Given the description of an element on the screen output the (x, y) to click on. 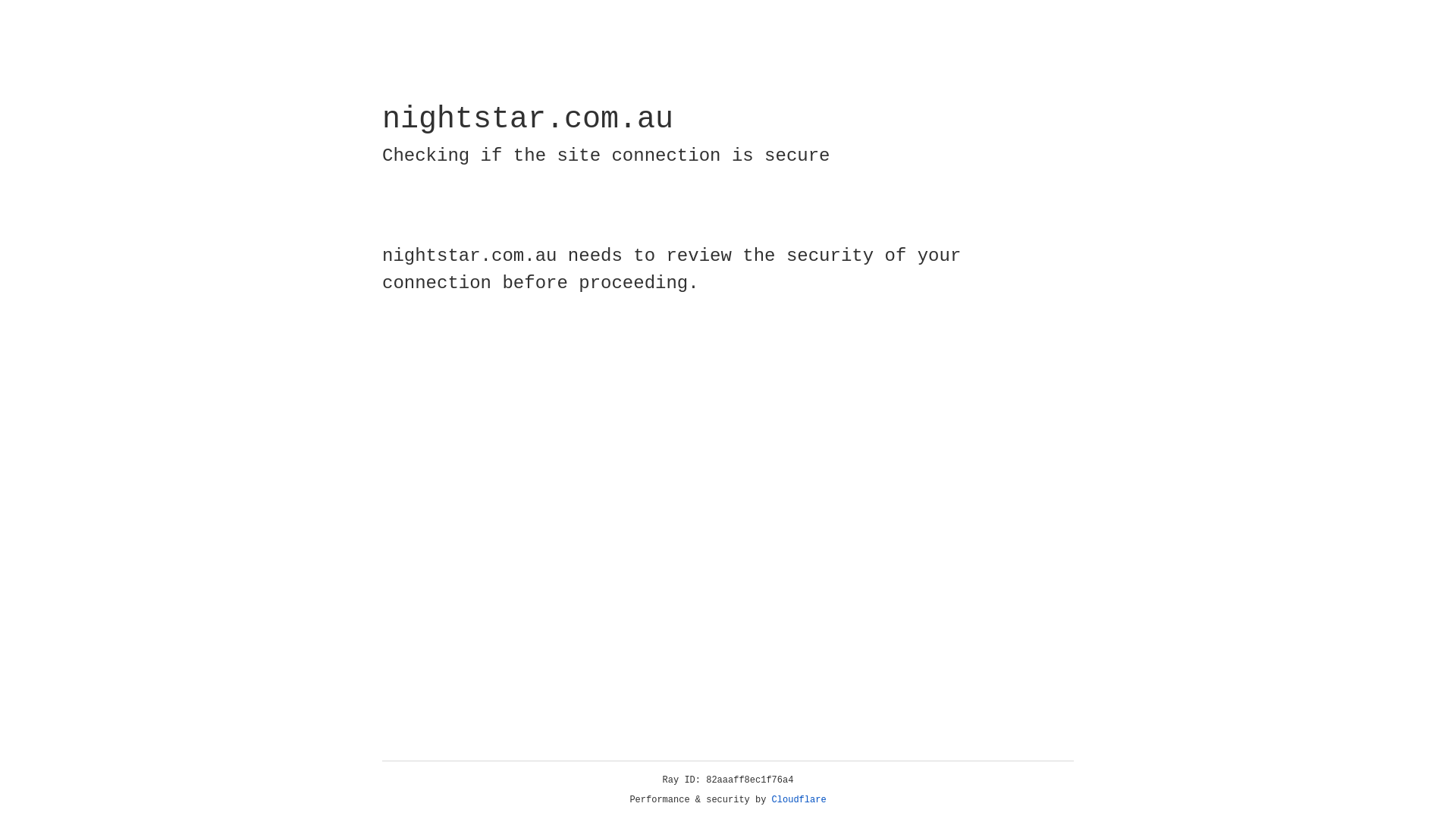
Cloudflare Element type: text (798, 799)
